Given the description of an element on the screen output the (x, y) to click on. 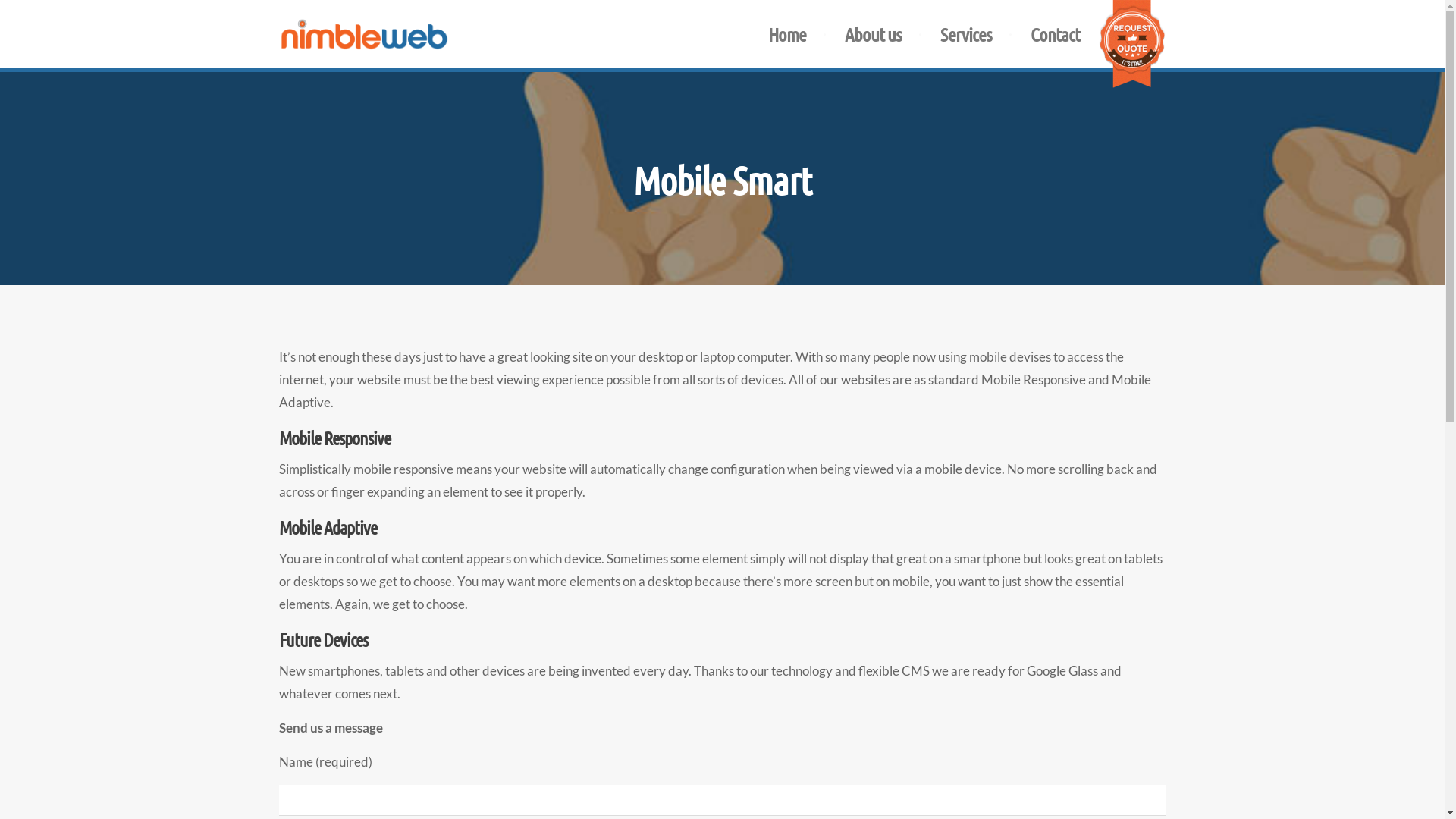
Contact Element type: text (1054, 34)
Home Element type: text (785, 34)
Services Element type: text (965, 34)
About us Element type: text (873, 34)
